Given the description of an element on the screen output the (x, y) to click on. 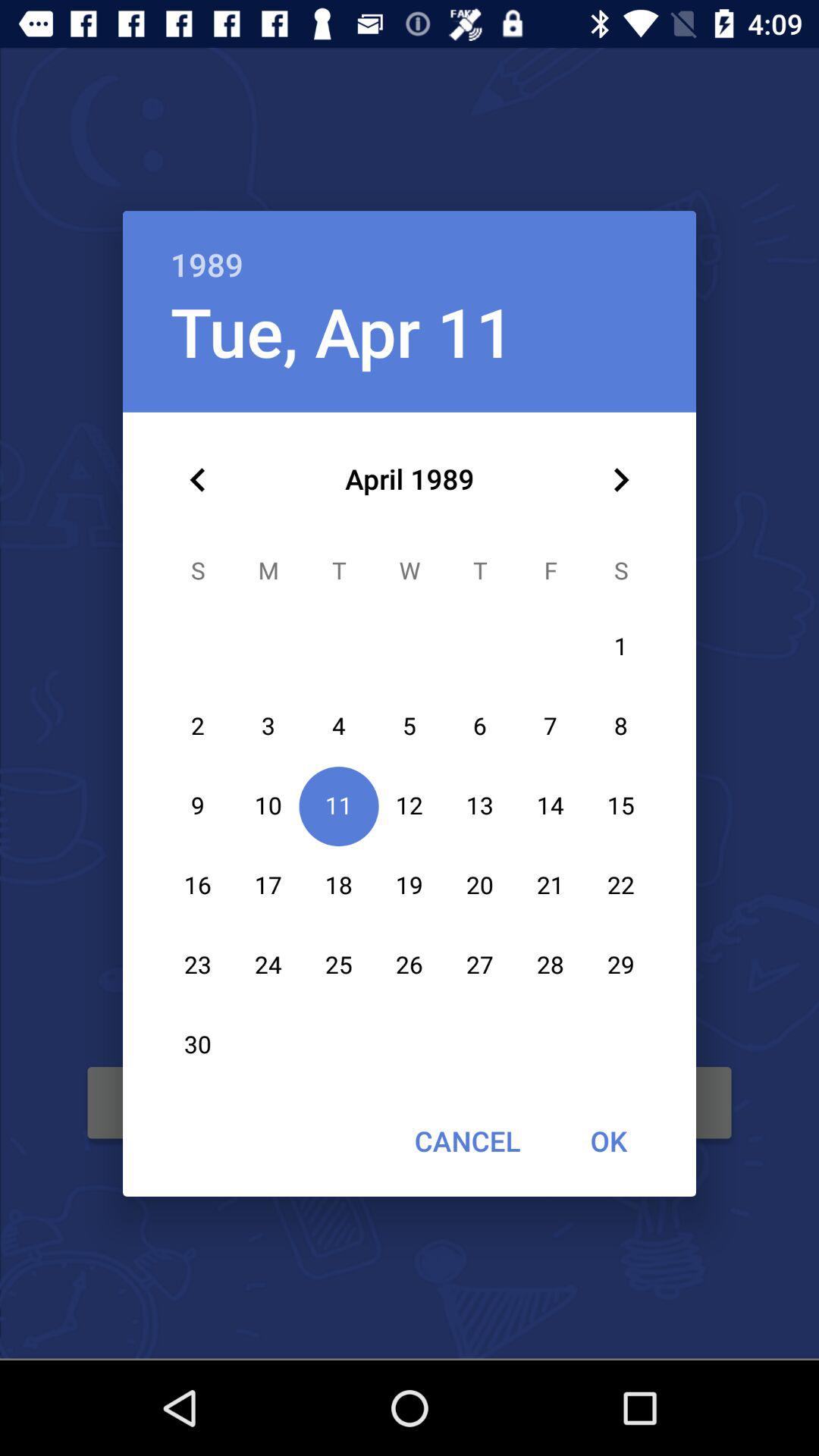
click the icon at the top left corner (197, 479)
